Given the description of an element on the screen output the (x, y) to click on. 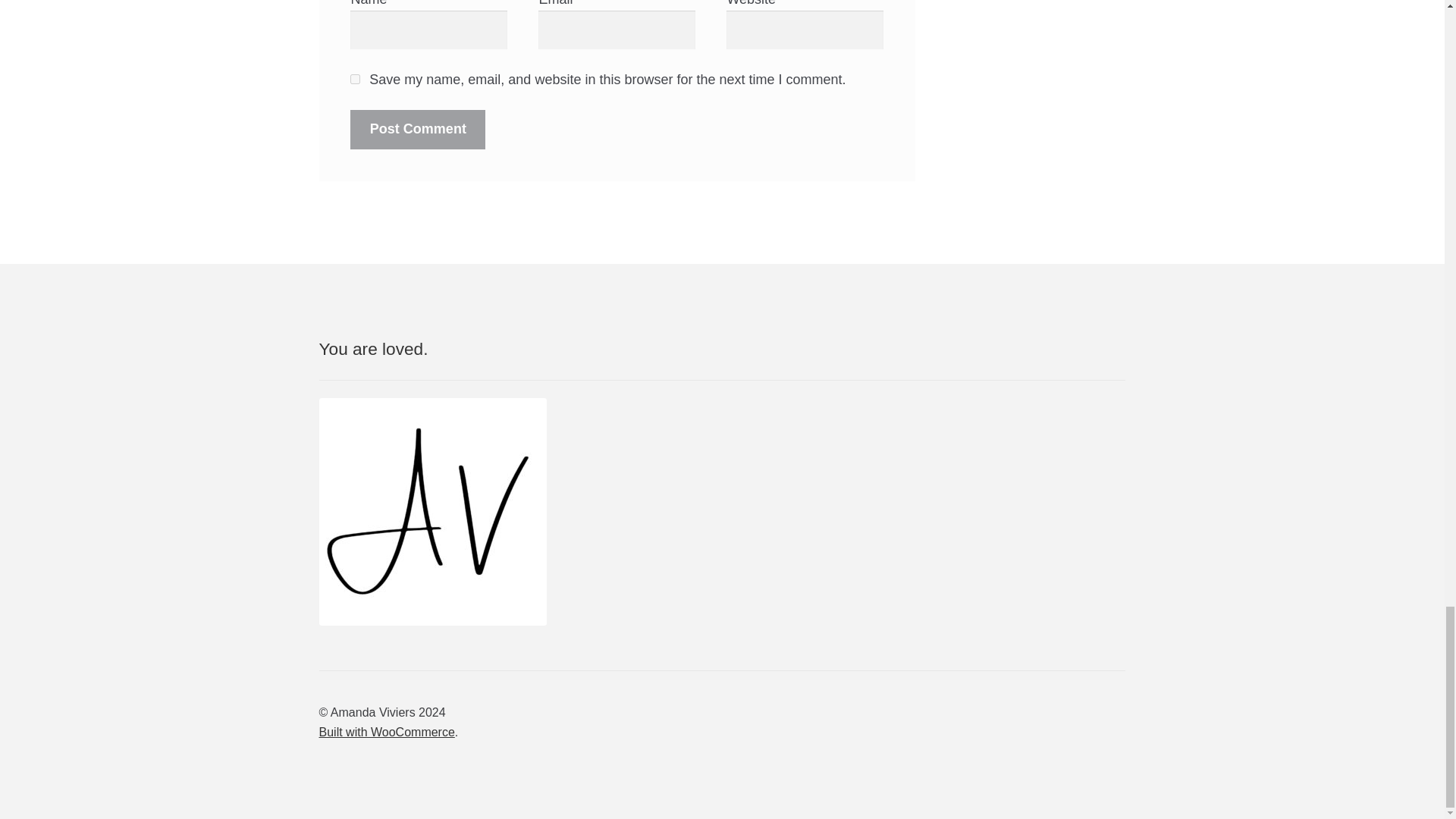
yes (354, 79)
Post Comment (417, 128)
WooCommerce - The Best eCommerce Platform for WordPress (386, 731)
